Given the description of an element on the screen output the (x, y) to click on. 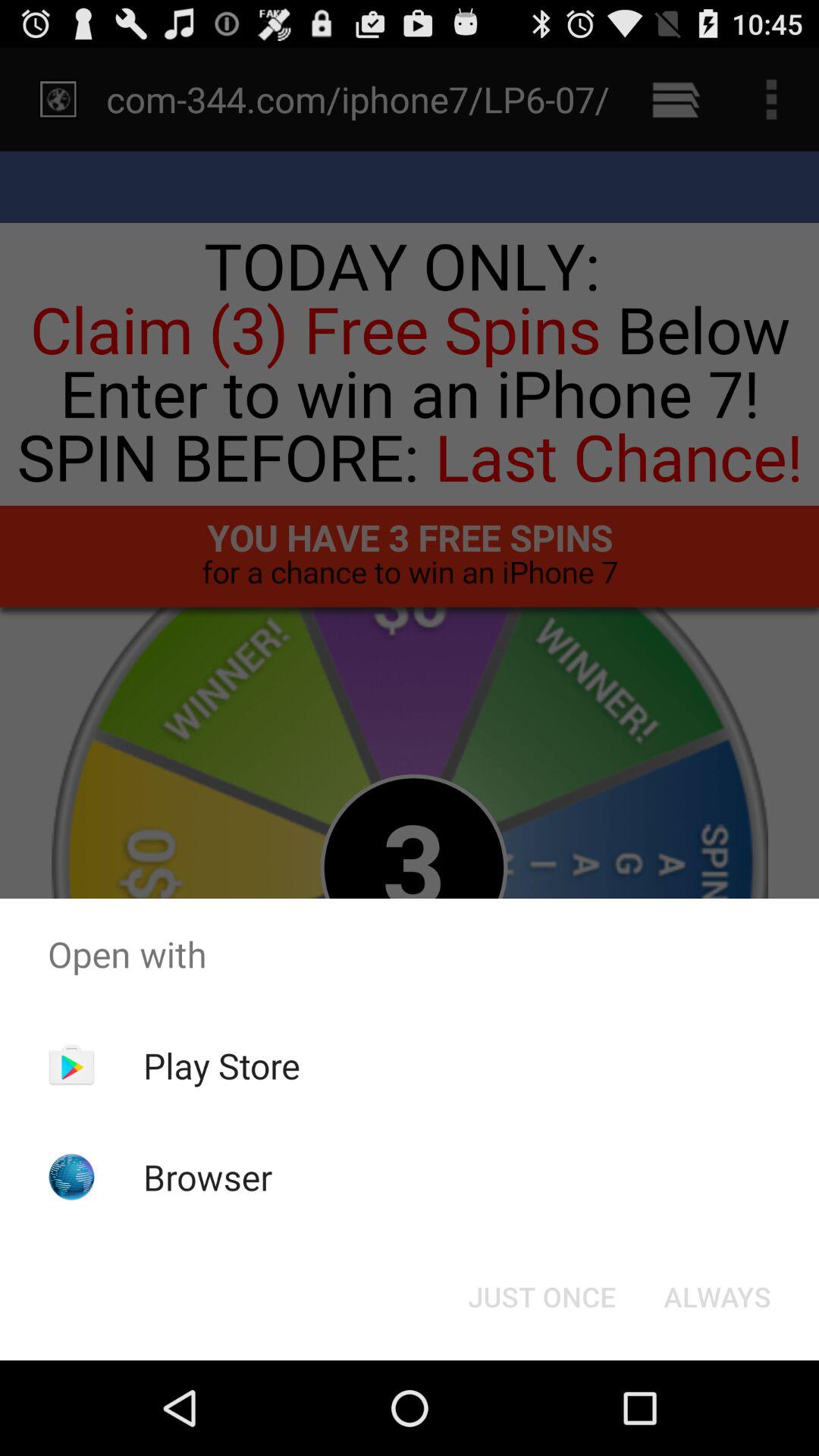
click app above browser app (221, 1065)
